Given the description of an element on the screen output the (x, y) to click on. 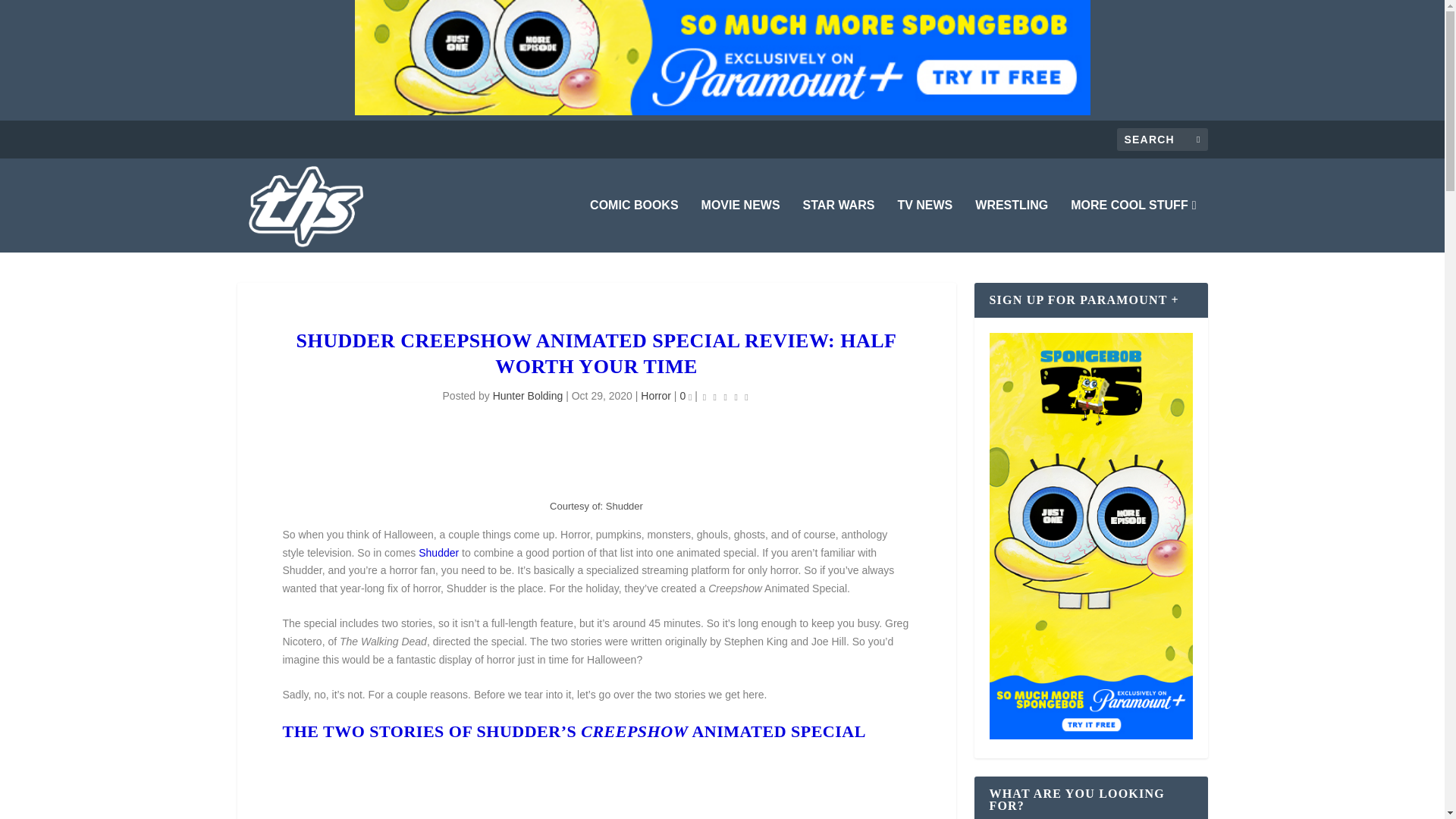
Search for: (1161, 138)
MOVIE NEWS (740, 225)
Rating: 0.00 (725, 396)
MORE COOL STUFF (1132, 225)
Posts by Hunter Bolding (528, 395)
Shudder (438, 552)
STAR WARS (839, 225)
Horror (655, 395)
COMIC BOOKS (633, 225)
Hunter Bolding (528, 395)
comment count (689, 397)
TV NEWS (924, 225)
WRESTLING (1011, 225)
0 (685, 395)
